Given the description of an element on the screen output the (x, y) to click on. 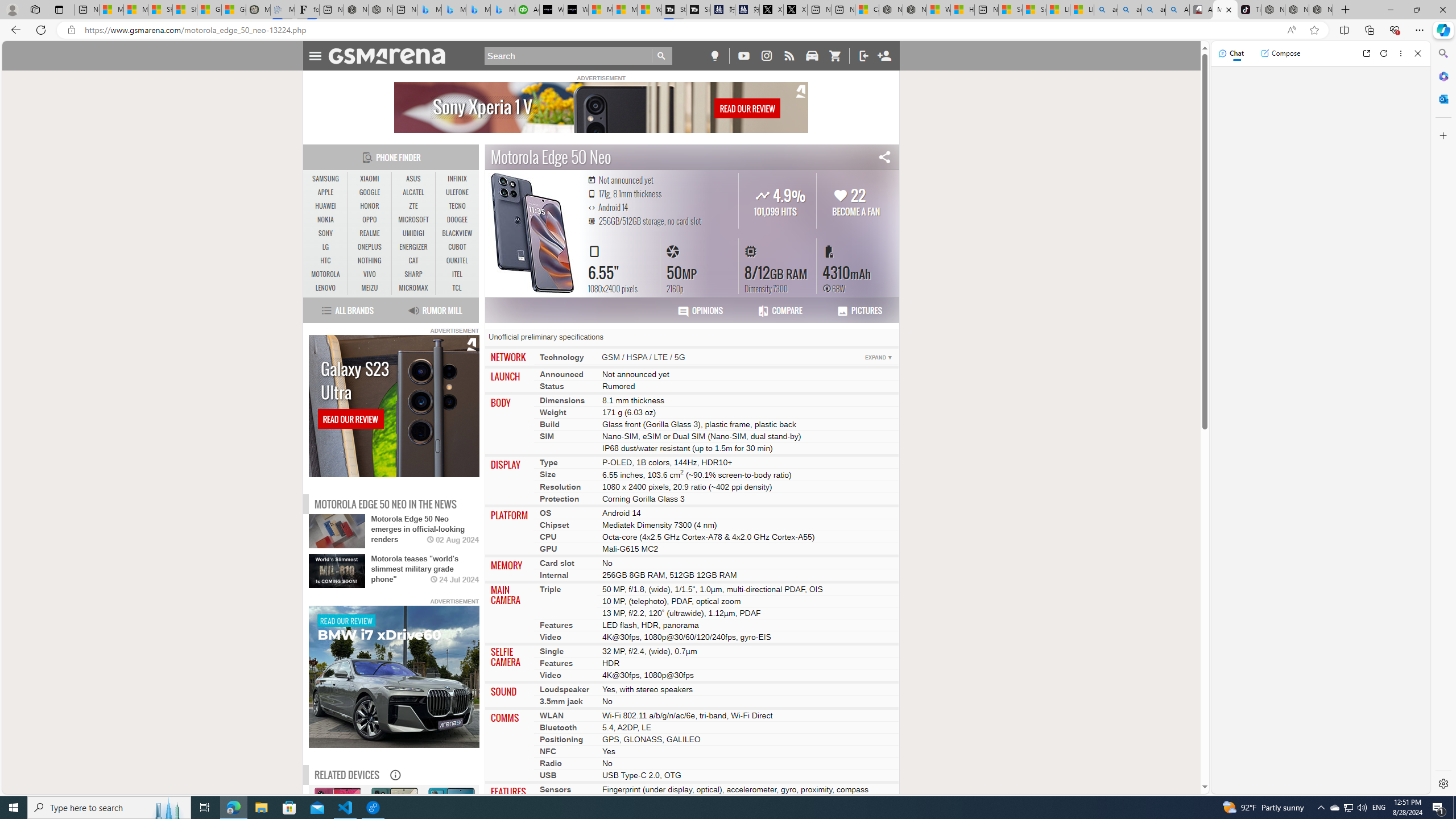
TCL (457, 287)
TECNO (457, 206)
amazon - Search (1129, 9)
BLACKVIEW (457, 233)
Video (551, 674)
Card slot (557, 562)
Chipset (554, 524)
Size (548, 474)
CUBOT (457, 246)
SONY (325, 233)
Chat (1231, 52)
Side bar (1443, 418)
